Given the description of an element on the screen output the (x, y) to click on. 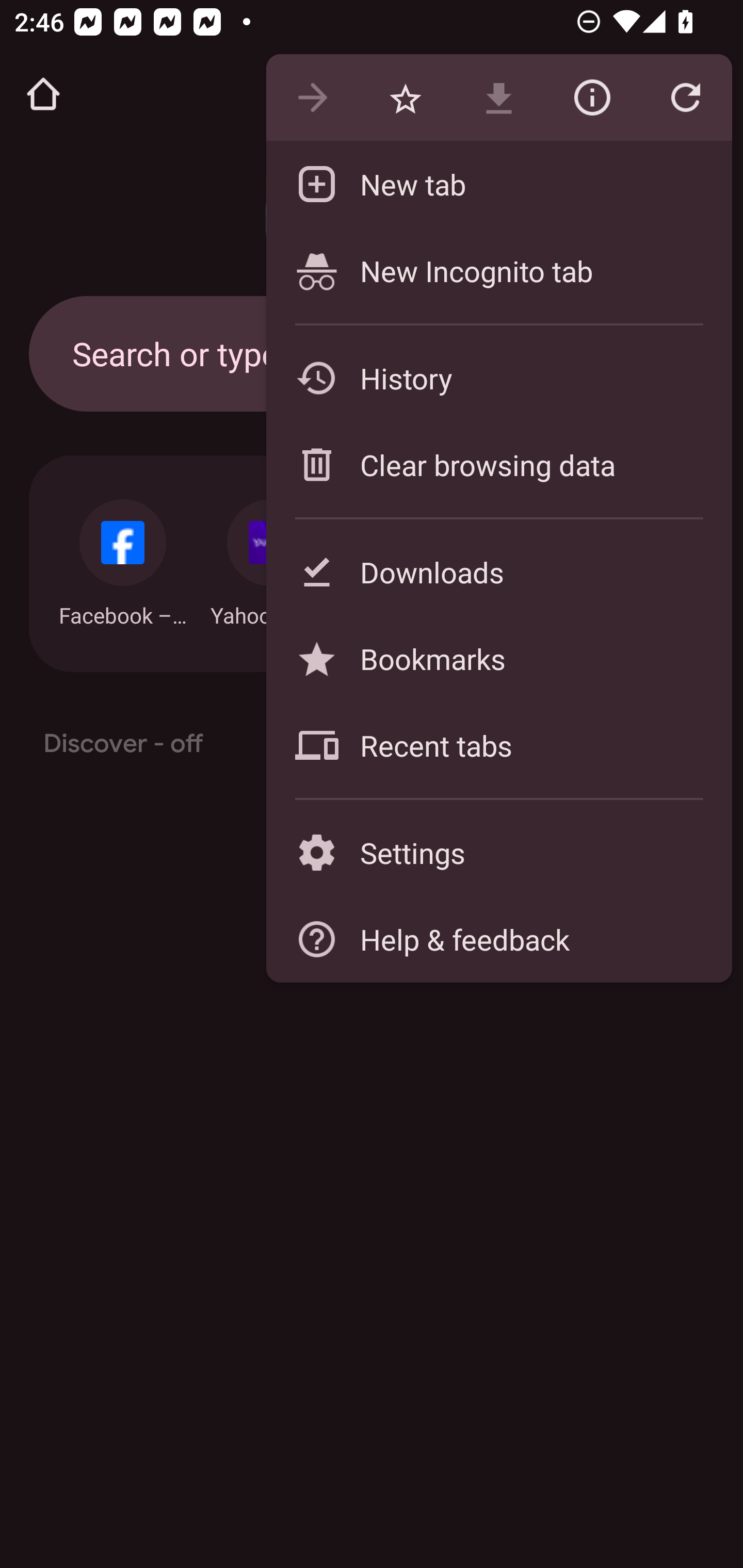
Forward (311, 97)
Bookmark (404, 97)
Download (498, 97)
Page info (591, 97)
Refresh (684, 97)
New tab (498, 184)
New Incognito tab (498, 270)
History (498, 377)
Clear browsing data (498, 464)
Downloads (498, 571)
Bookmarks (498, 658)
Recent tabs (498, 745)
Settings (498, 852)
Help & feedback (498, 939)
